Given the description of an element on the screen output the (x, y) to click on. 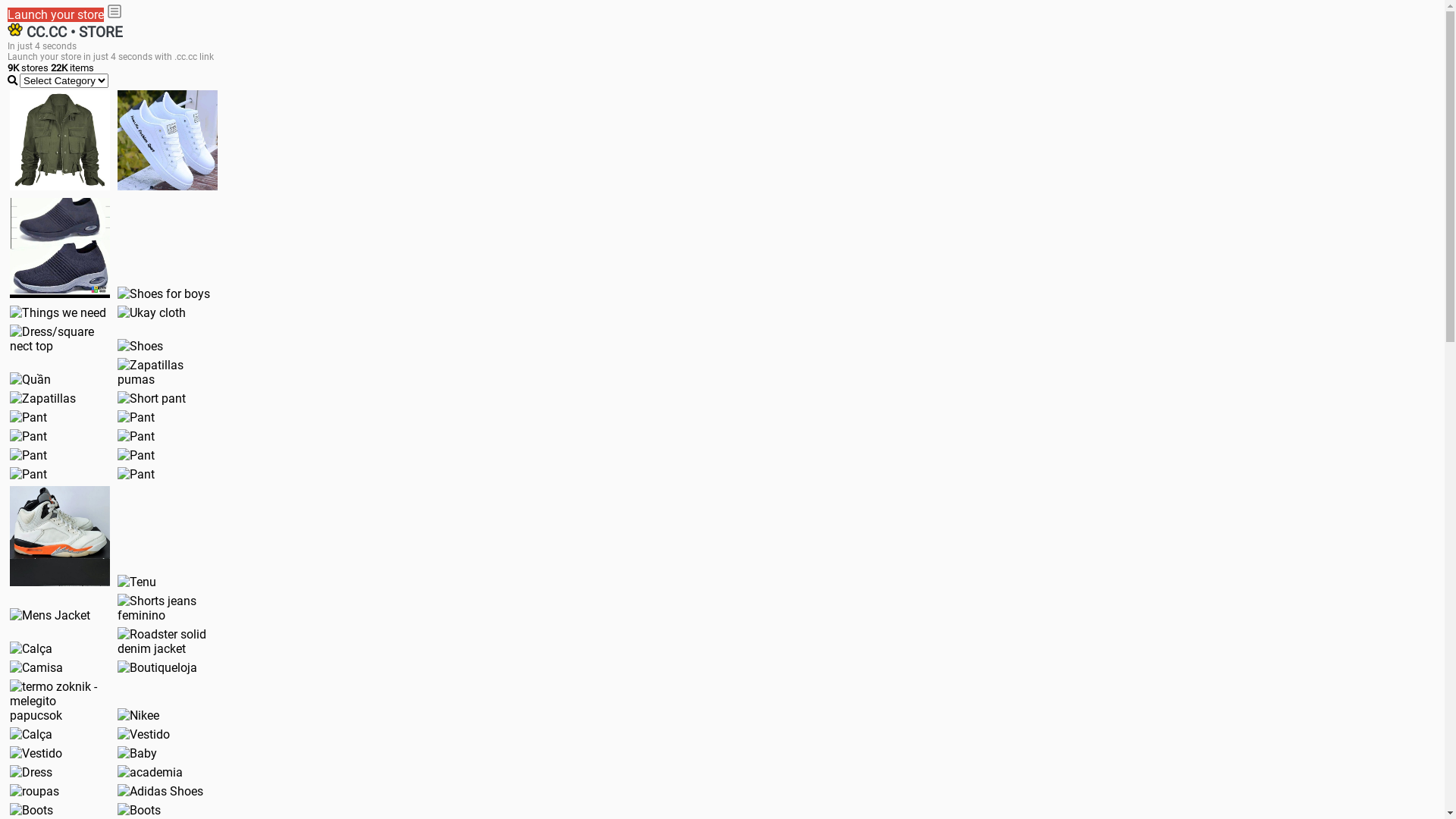
Boots Element type: hover (138, 810)
Pant Element type: hover (135, 455)
Shoe Element type: hover (59, 536)
white shoes Element type: hover (167, 140)
Roadster solid denim jacket Element type: hover (167, 641)
Boutiqueloja Element type: hover (157, 667)
roupas Element type: hover (34, 791)
Pant Element type: hover (135, 474)
Short pant Element type: hover (151, 398)
Boots Element type: hover (31, 810)
academia Element type: hover (149, 772)
Pant Element type: hover (28, 436)
Vestido Element type: hover (143, 734)
Zapatillas Element type: hover (42, 398)
Pant Element type: hover (135, 436)
Baby Element type: hover (136, 753)
Zapatillas pumas Element type: hover (167, 371)
Ukay cloth Element type: hover (151, 312)
Pant Element type: hover (28, 474)
Launch your store Element type: text (55, 14)
Things we need Element type: hover (57, 312)
Nikee Element type: hover (138, 715)
Pant Element type: hover (28, 417)
Shoes Element type: hover (140, 345)
Shorts jeans feminino Element type: hover (167, 607)
Dress Element type: hover (30, 772)
Pant Element type: hover (28, 455)
Adidas Shoes Element type: hover (160, 791)
Mens Jacket Element type: hover (49, 615)
termo zoknik - melegito papucsok Element type: hover (59, 700)
Dress/square nect top Element type: hover (59, 338)
shoes for boys Element type: hover (59, 247)
Vestido Element type: hover (35, 753)
Pant Element type: hover (135, 417)
Tenu Element type: hover (136, 581)
Camisa Element type: hover (35, 667)
jacket Element type: hover (59, 140)
Shoes for boys Element type: hover (163, 293)
